Given the description of an element on the screen output the (x, y) to click on. 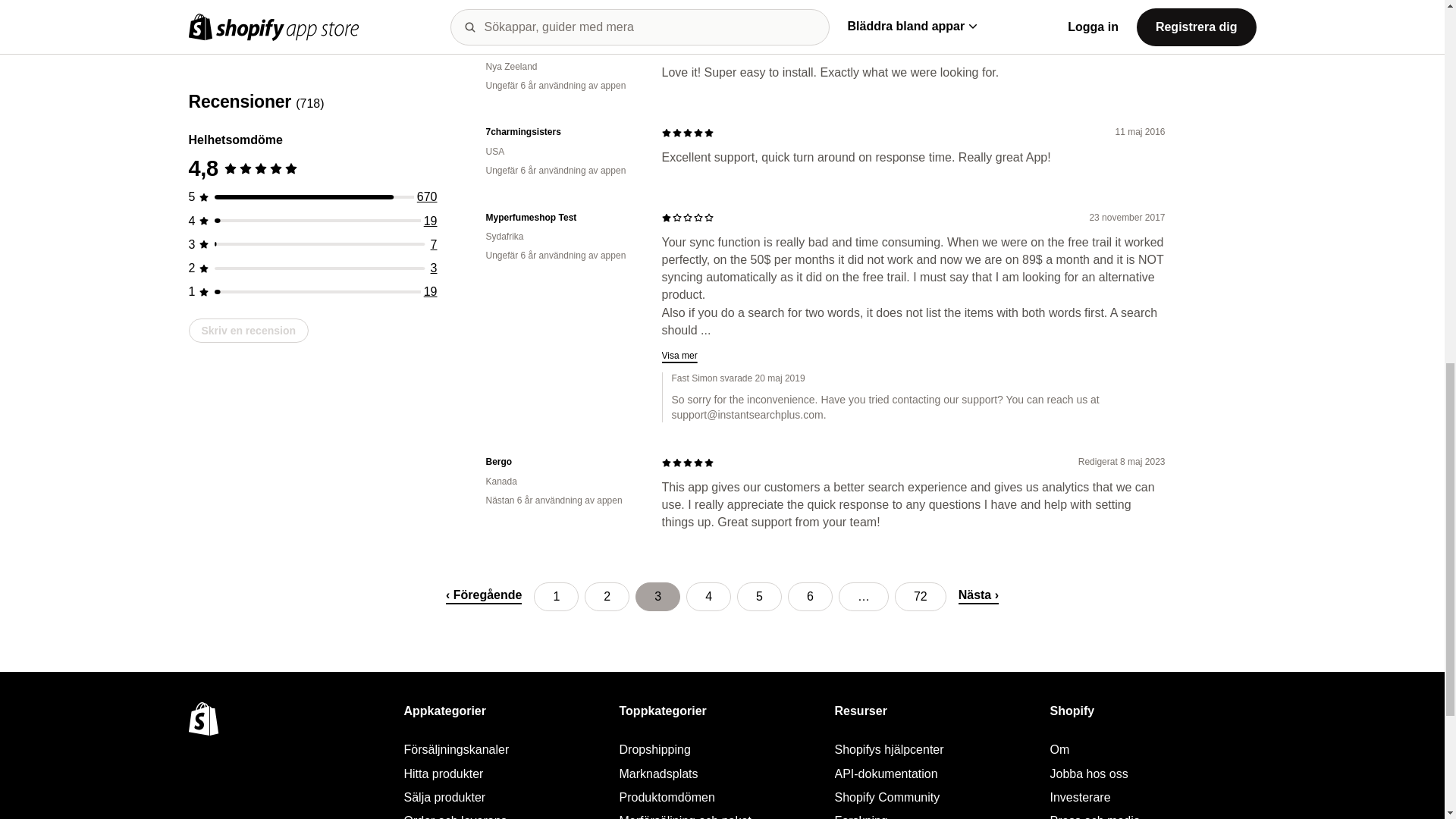
Shop Rodneywayne Com (560, 47)
Bergo (560, 461)
7charmingsisters (560, 132)
Myperfumeshop Test (560, 216)
